Given the description of an element on the screen output the (x, y) to click on. 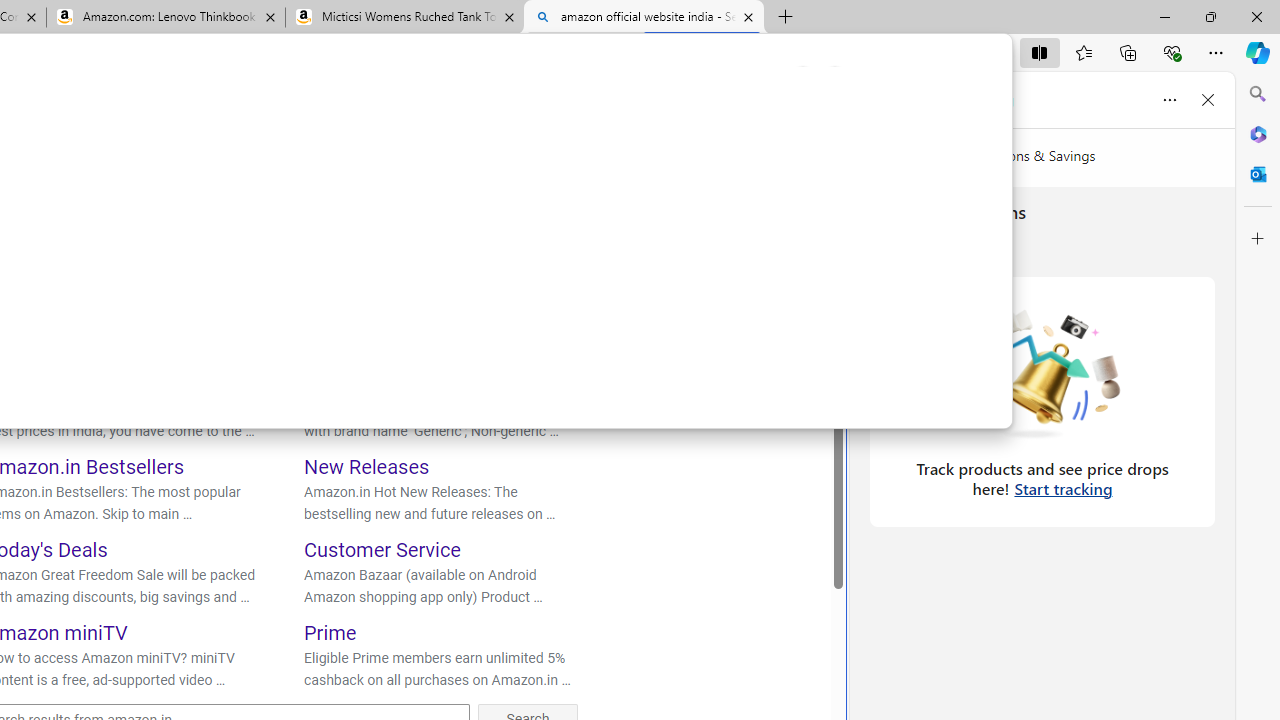
Dropdown Menu (478, 170)
Expand See more (767, 269)
Microsoft Rewards 72 (856, 119)
TOOLS (562, 173)
MAPS (330, 170)
Expand (727, 269)
Prime (330, 632)
NEWS (400, 170)
